Given the description of an element on the screen output the (x, y) to click on. 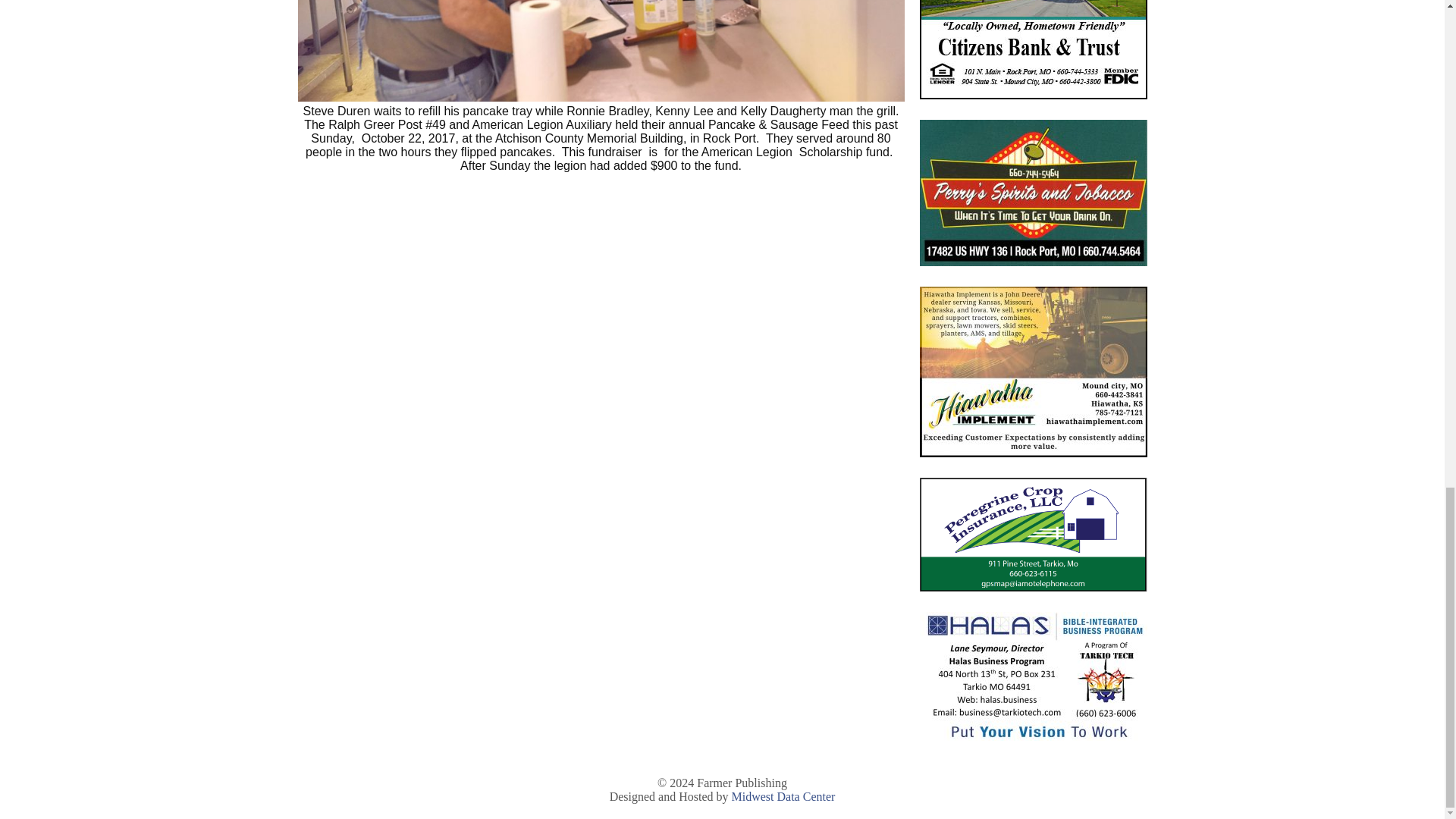
Midwest Data Center (782, 796)
Designed and Hosted by (671, 796)
Farmer Publishing (742, 782)
